Given the description of an element on the screen output the (x, y) to click on. 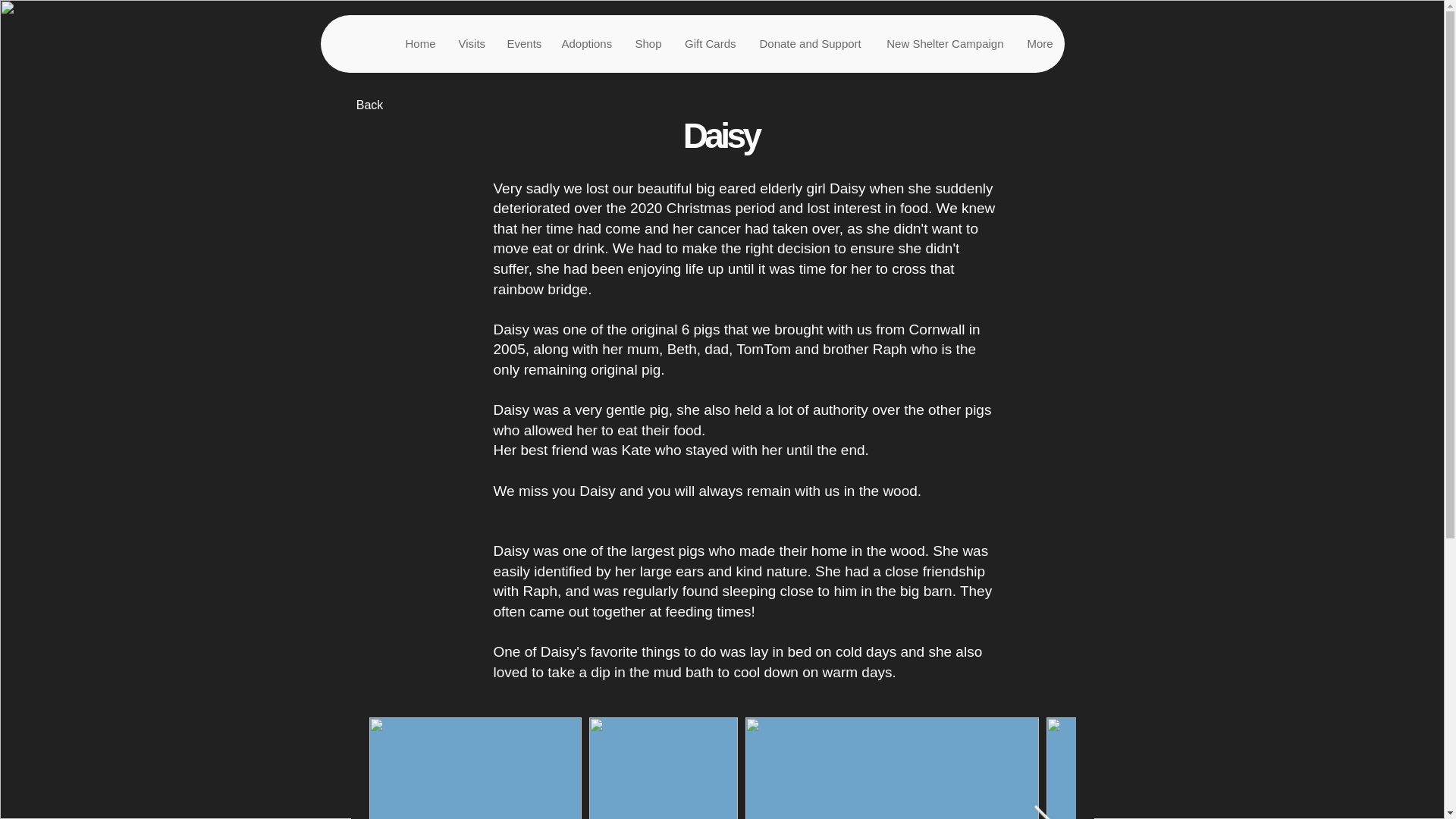
Events (521, 43)
Adoptions (585, 43)
Home (419, 43)
Gift Cards (709, 43)
New Shelter Campaign (943, 43)
Donate and Support (810, 43)
Back (369, 105)
